Given the description of an element on the screen output the (x, y) to click on. 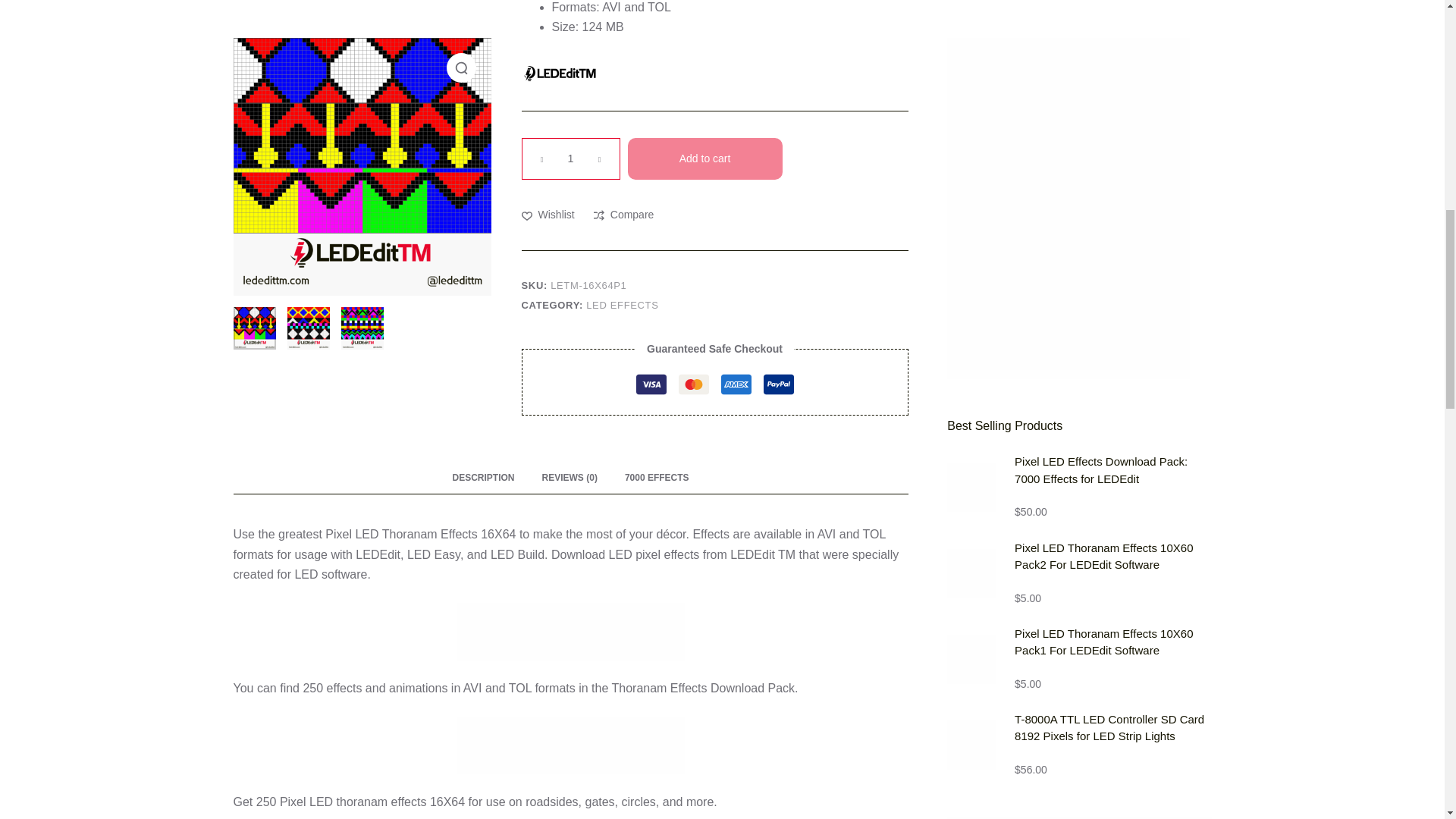
LEDEdit TM Brand (558, 73)
1 (570, 158)
